Given the description of an element on the screen output the (x, y) to click on. 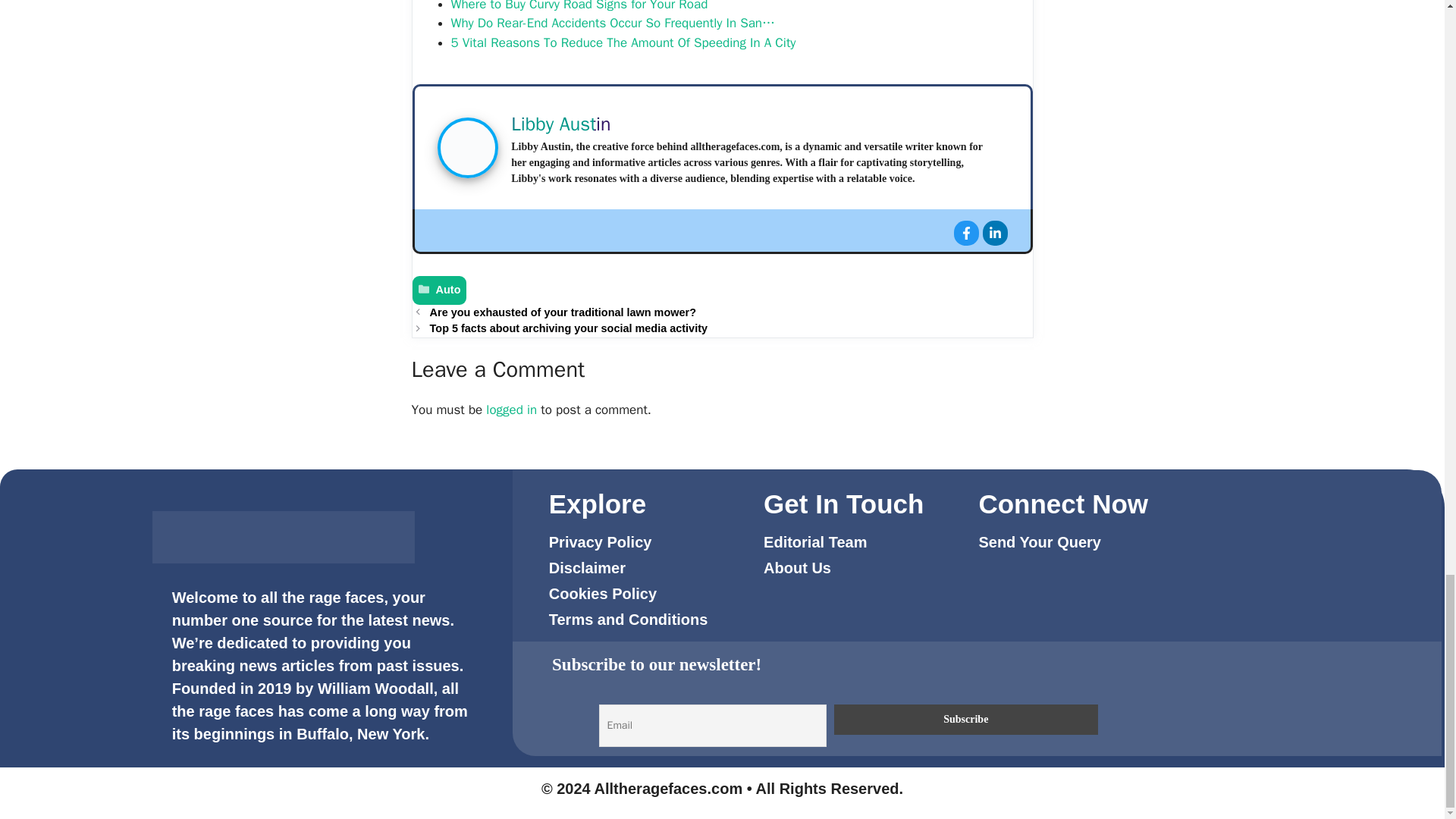
Subscribe (965, 719)
Where to Buy Curvy Road Signs for Your Road (578, 6)
